Given the description of an element on the screen output the (x, y) to click on. 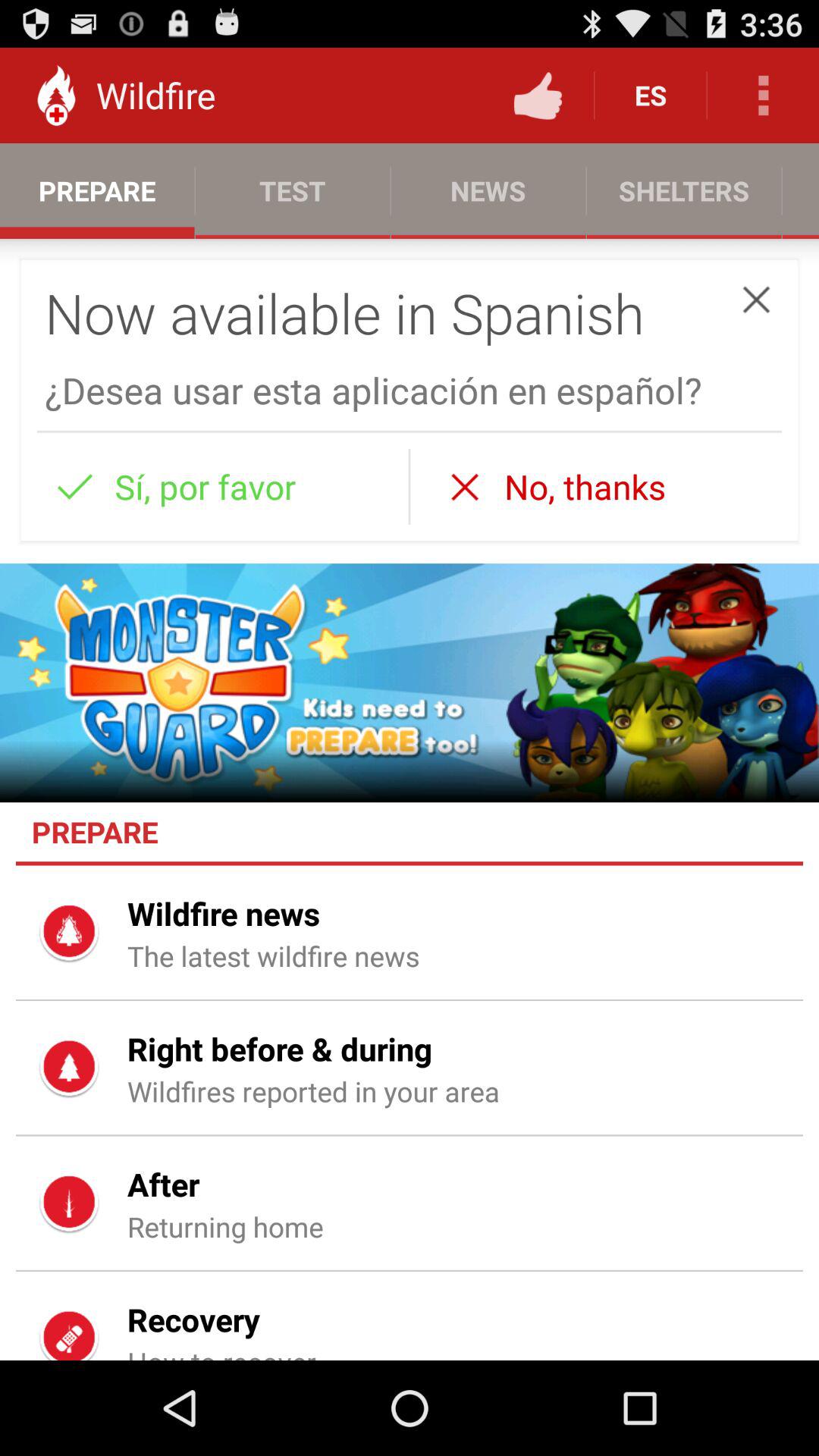
press icon above the shelters icon (763, 95)
